Given the description of an element on the screen output the (x, y) to click on. 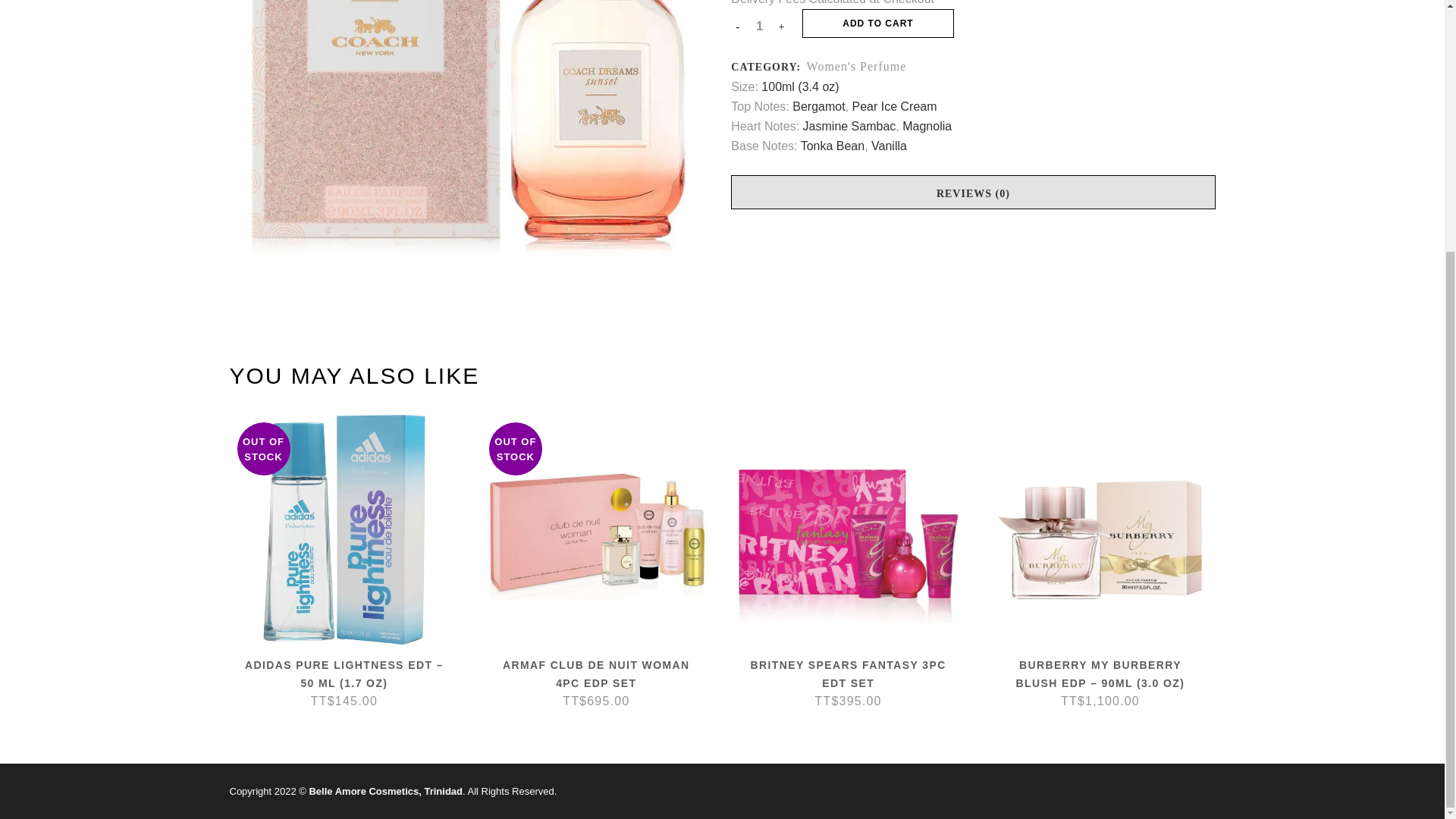
1 (759, 26)
- (737, 26)
